Given the description of an element on the screen output the (x, y) to click on. 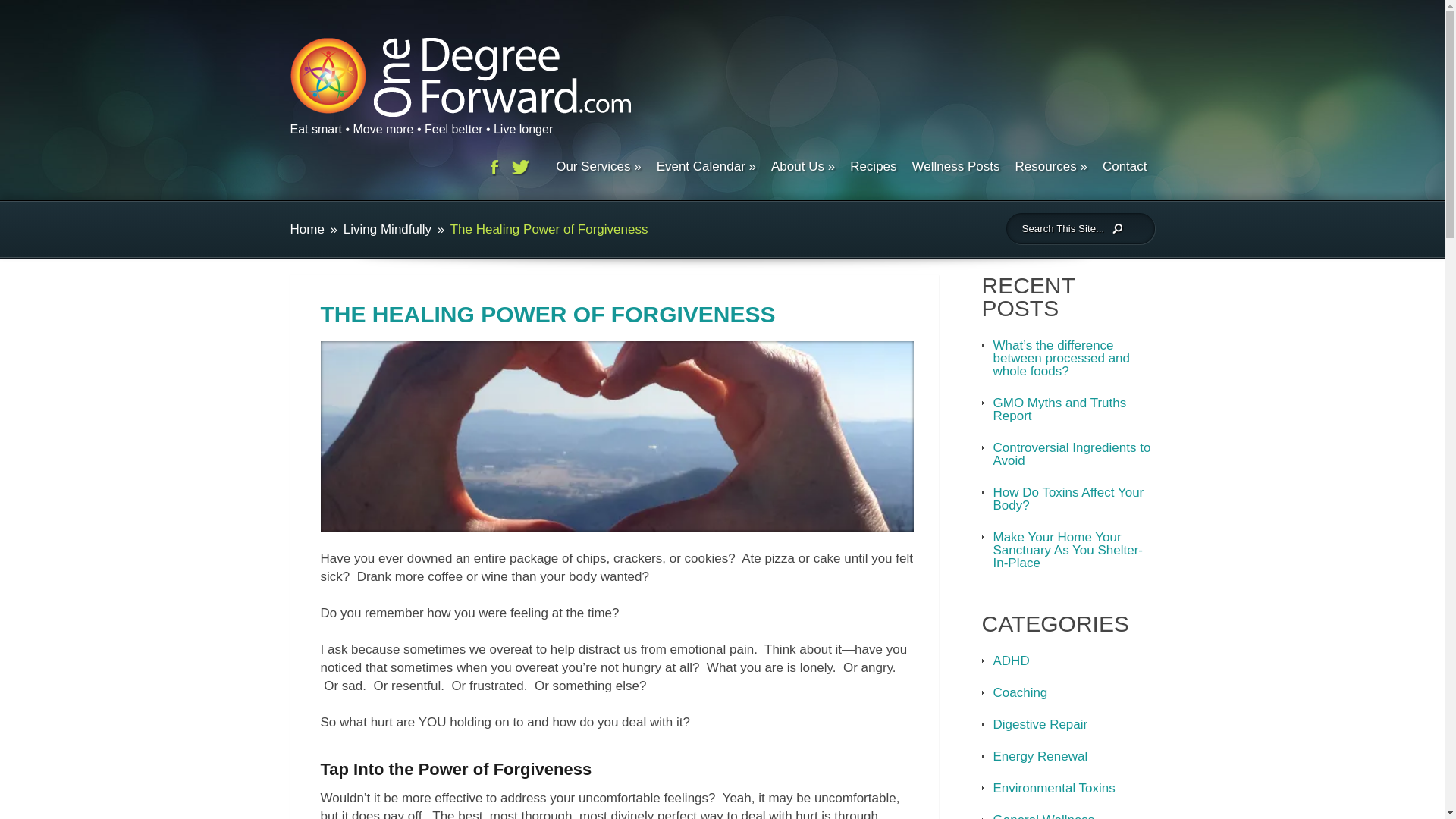
Search This Site... (1058, 228)
Our Services (598, 169)
Renew your energy at the cellular level. (1039, 756)
